Given the description of an element on the screen output the (x, y) to click on. 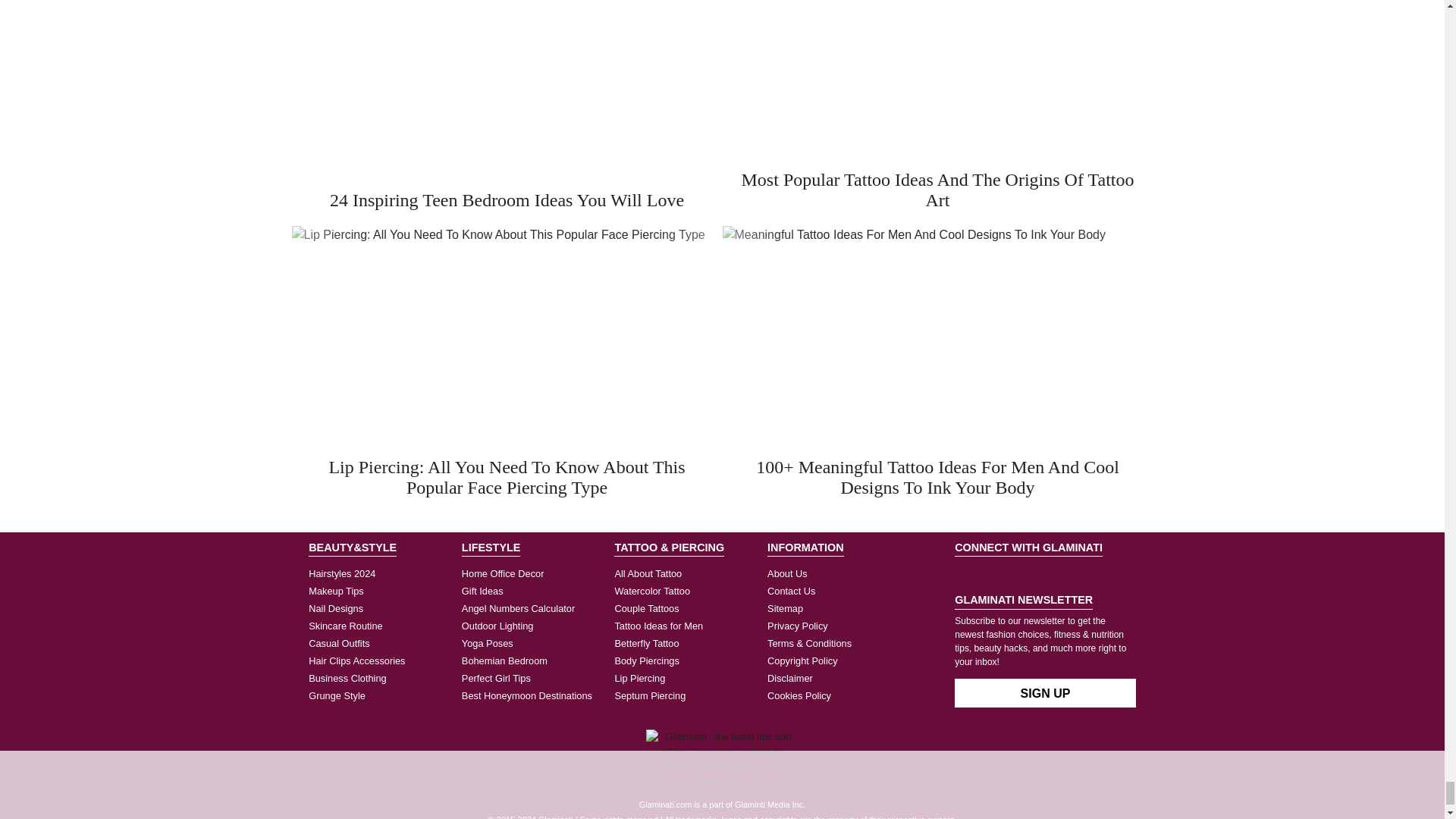
Sign Up (1045, 692)
